Given the description of an element on the screen output the (x, y) to click on. 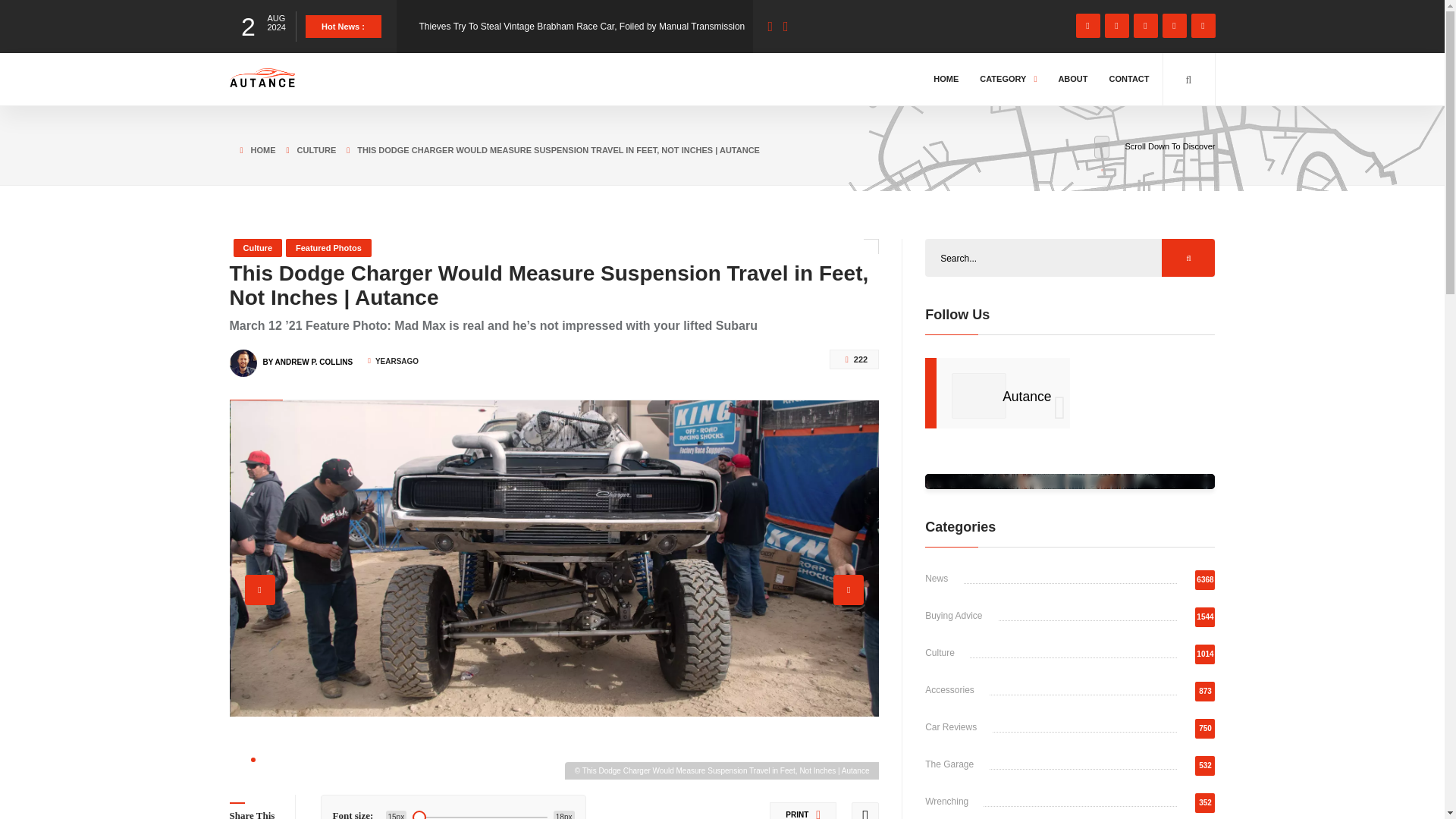
CATEGORY (1008, 79)
CONTACT (1128, 79)
CULTURE (306, 147)
HOME (945, 79)
PRINT (802, 810)
HOME (251, 147)
BY ANDREW P. COLLINS (307, 354)
Culture (257, 248)
Featured Photos (328, 248)
